Given the description of an element on the screen output the (x, y) to click on. 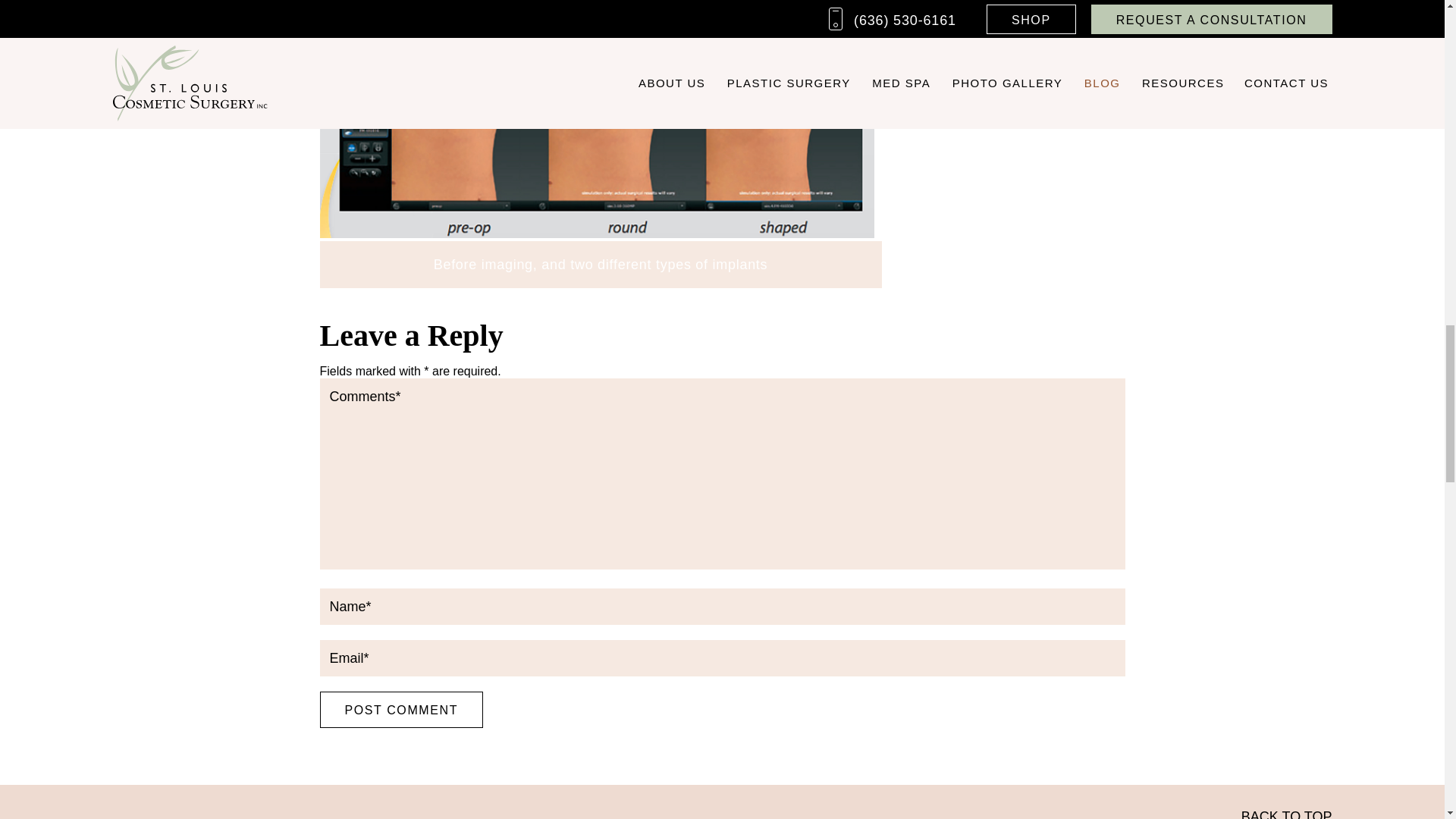
Post Comment (401, 709)
